Given the description of an element on the screen output the (x, y) to click on. 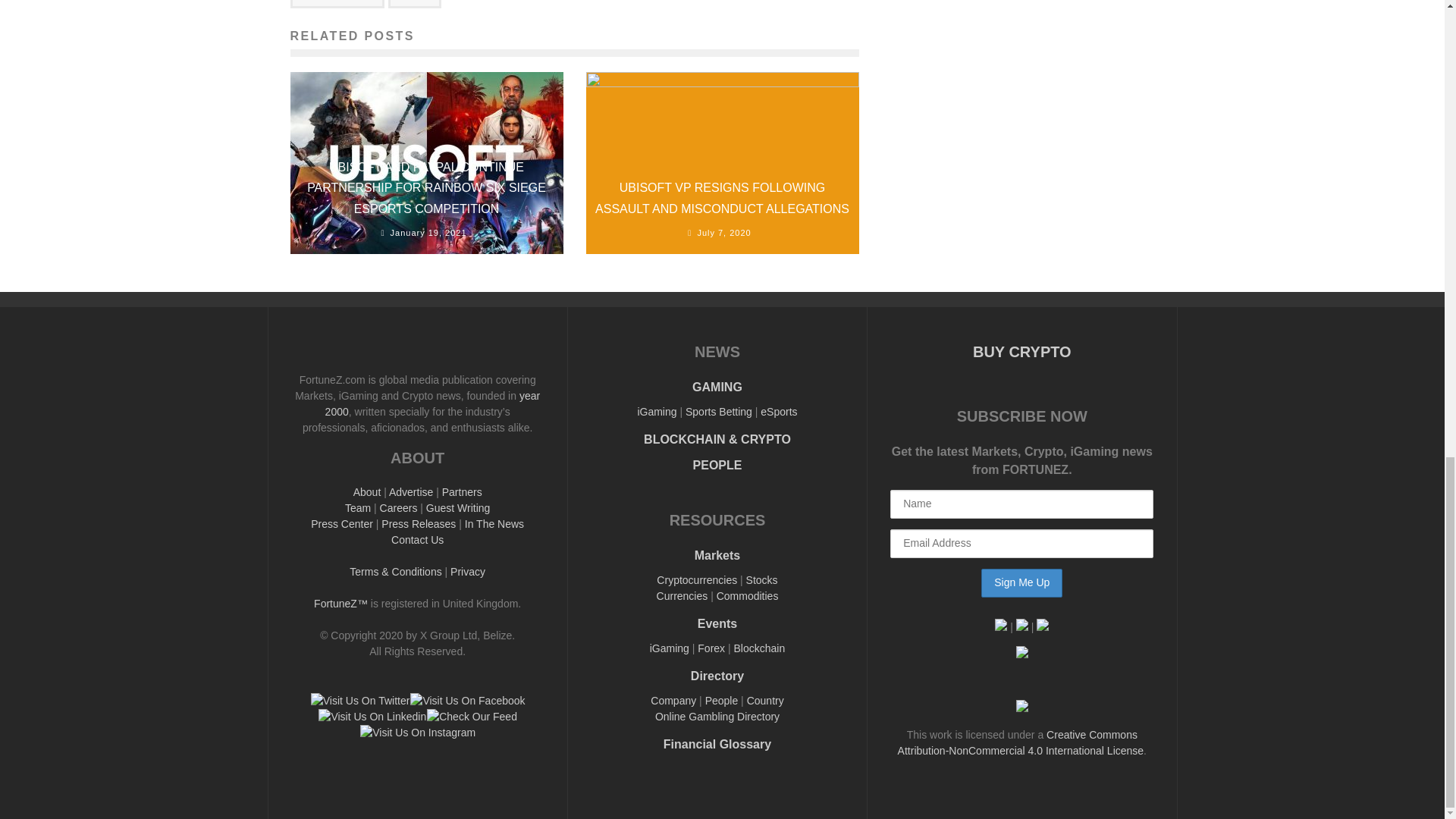
Sign Me Up (1021, 582)
Visit Us On Facebook (466, 700)
Visit Us On Linkedin (371, 716)
Visit Us On Twitter (360, 700)
